Given the description of an element on the screen output the (x, y) to click on. 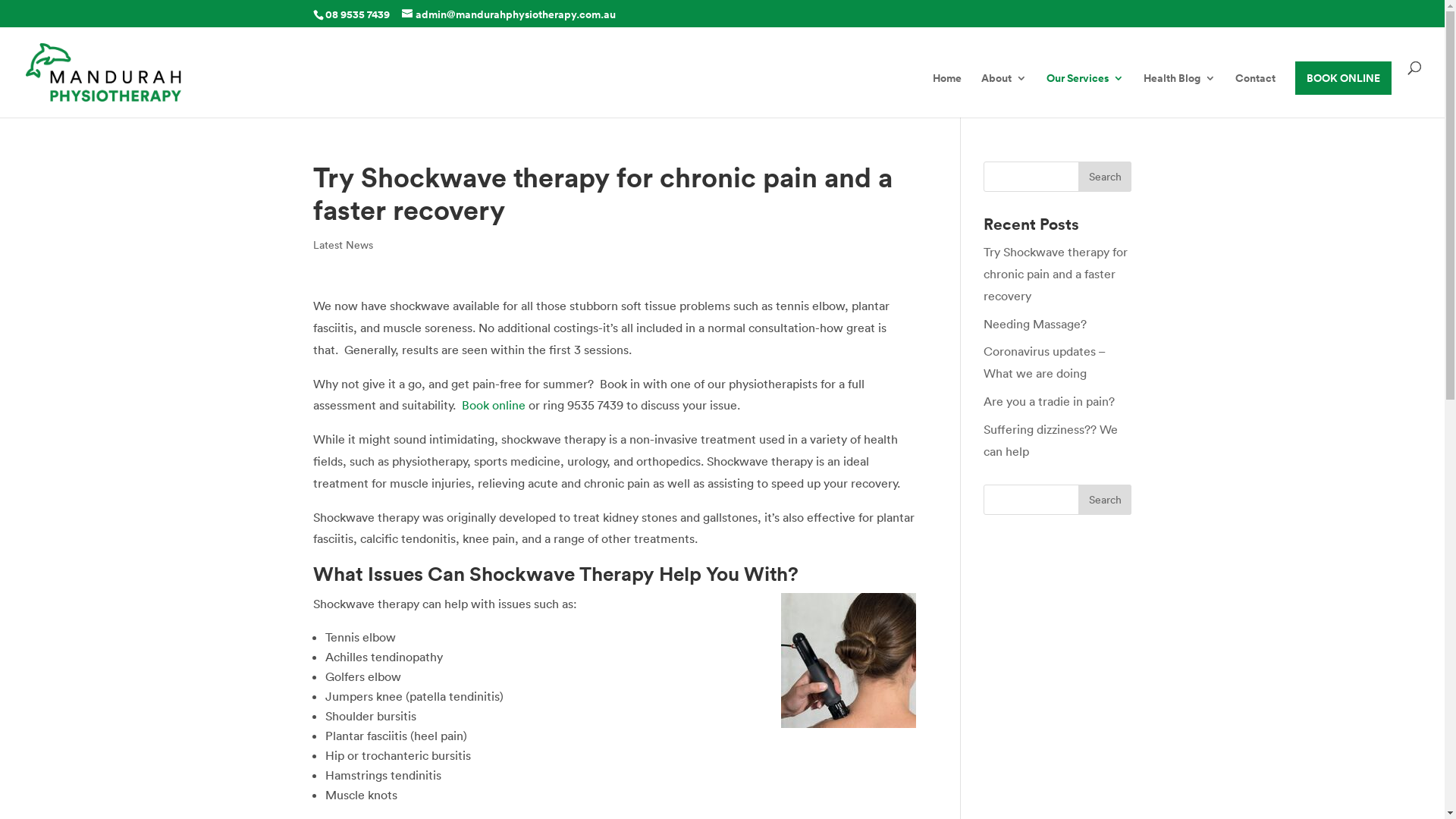
Our Services Element type: text (1084, 94)
About Element type: text (1003, 94)
Latest News Element type: text (342, 244)
Search Element type: text (1104, 499)
Needing Massage? Element type: text (1034, 323)
08 9535 7439 Element type: text (356, 14)
Book online Element type: text (492, 404)
Health Blog Element type: text (1179, 94)
Try Shockwave therapy for chronic pain and a faster recovery Element type: text (1055, 273)
Suffering dizziness?? We can help Element type: text (1050, 439)
admin@mandurahphysiotherapy.com.au Element type: text (508, 14)
Contact Element type: text (1255, 94)
BOOK ONLINE Element type: text (1343, 77)
Home Element type: text (946, 94)
Search Element type: text (1104, 176)
Are you a tradie in pain? Element type: text (1048, 400)
